Given the description of an element on the screen output the (x, y) to click on. 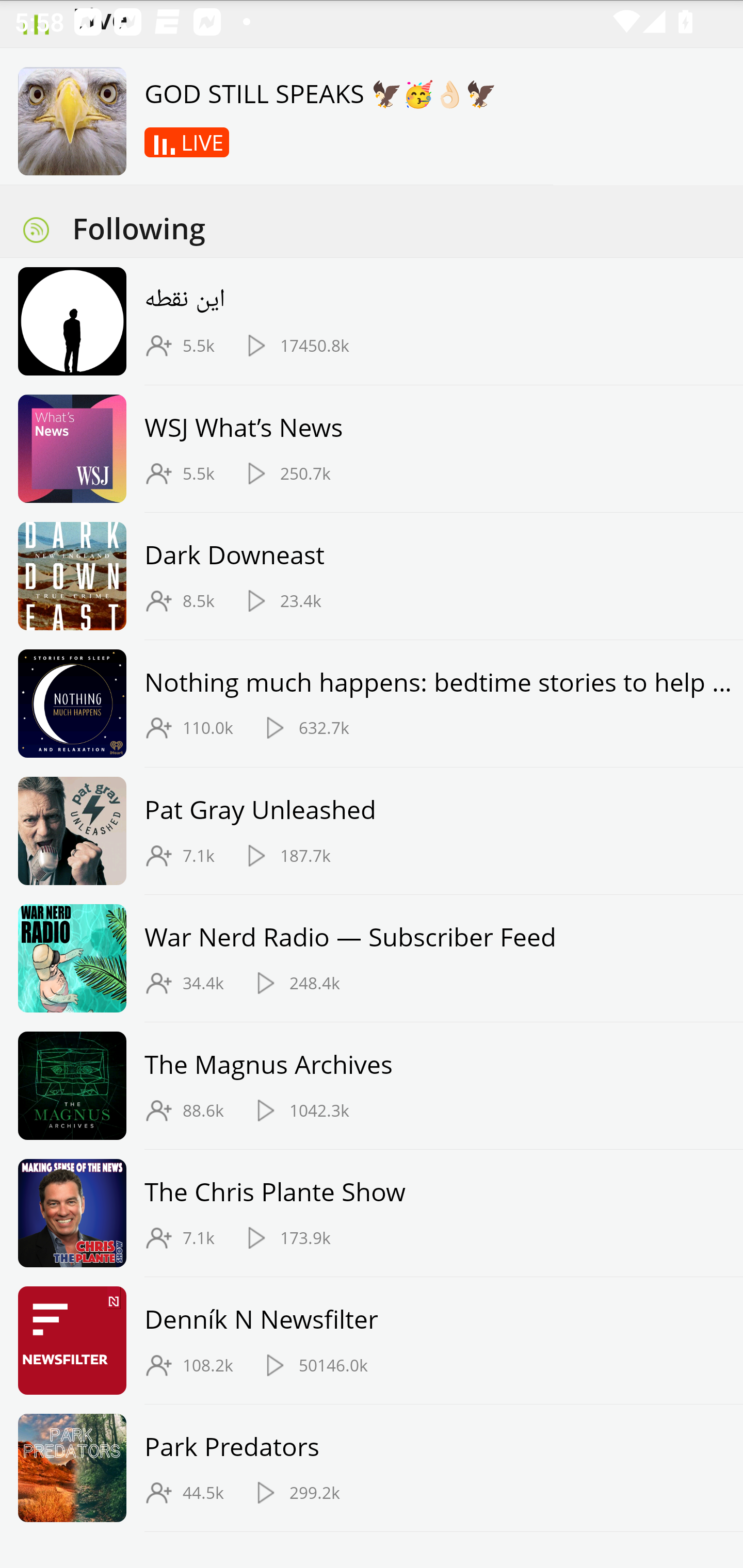
GOD STILL SPEAKS 🦅🥳👌🏻🦅 LIVE (285, 116)
این نقطه 5.5k 17450.8k (371, 321)
WSJ What’s News 5.5k 250.7k (371, 448)
Dark Downeast 8.5k 23.4k (371, 575)
Pat Gray Unleashed 7.1k 187.7k (371, 830)
War Nerd Radio — Subscriber Feed 34.4k 248.4k (371, 958)
The Magnus Archives 88.6k 1042.3k (371, 1085)
The Chris Plante Show 7.1k 173.9k (371, 1212)
Denník N Newsfilter 108.2k 50146.0k (371, 1340)
Park Predators 44.5k 299.2k (371, 1467)
